Given the description of an element on the screen output the (x, y) to click on. 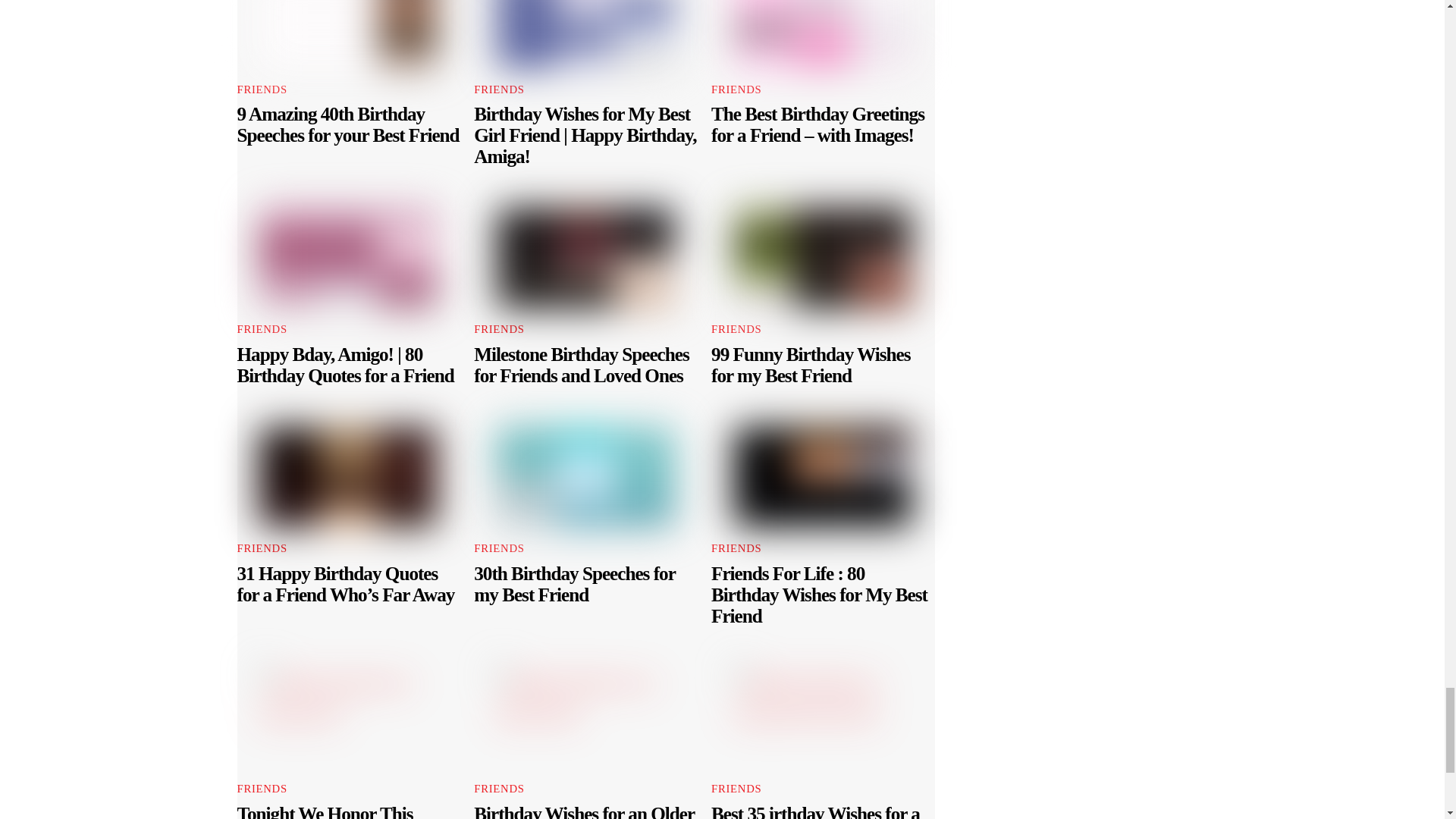
Milestone Birthday Speeches for Friends and Loved Ones (581, 364)
30th-birthday-speech-social (585, 476)
birthday-wishes-for-best-friend-female-social (585, 33)
birthday-greetings-for-a-friend-9 (822, 33)
birthday-speech (348, 33)
FRIENDS (260, 328)
FRIENDS (499, 328)
happy-birthday-friend-8 (348, 257)
FRIENDS (260, 89)
9 Amazing 40th Birthday Speeches for your Best Friend (346, 124)
